Given the description of an element on the screen output the (x, y) to click on. 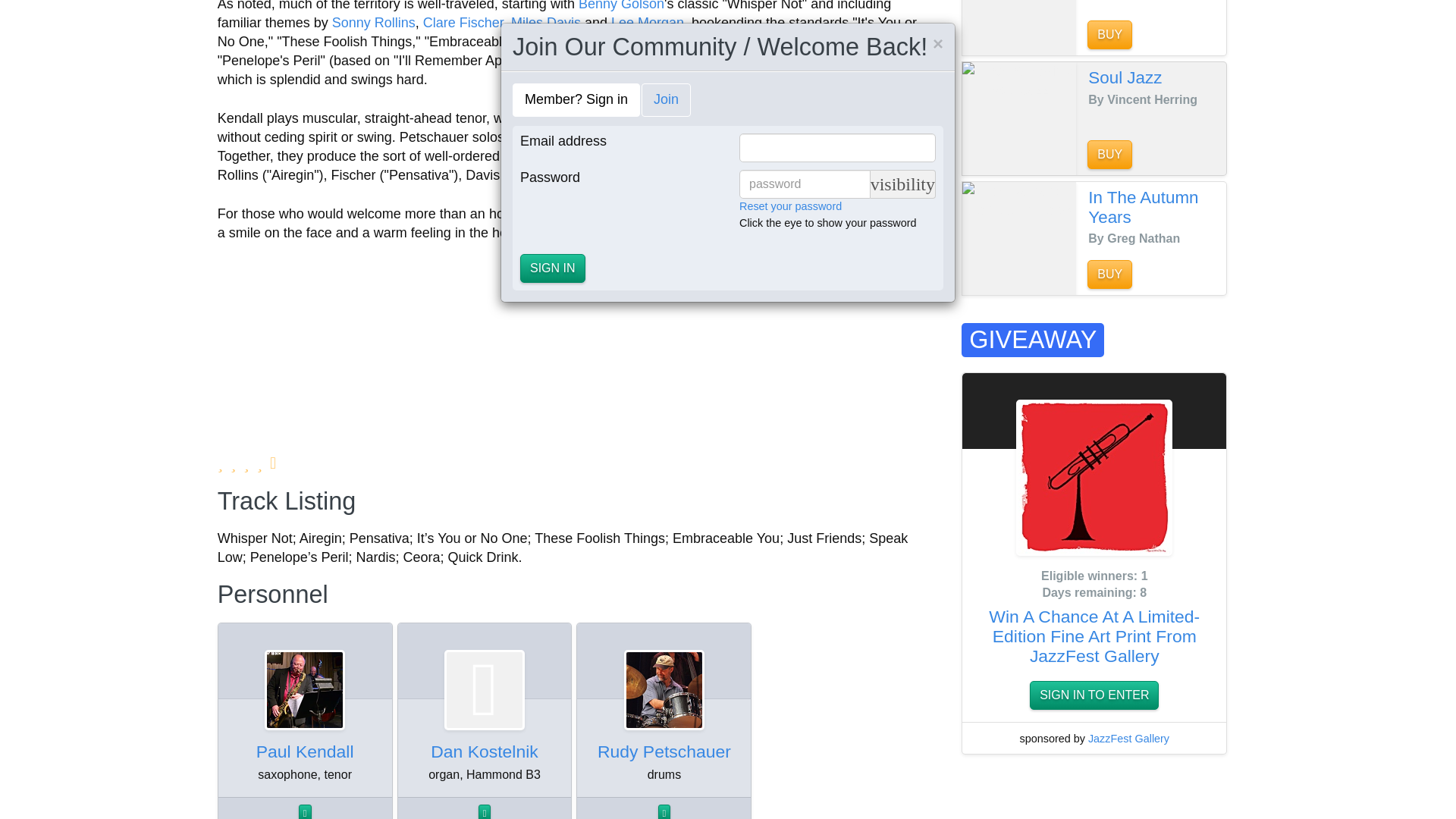
Benny Golson (620, 5)
